Given the description of an element on the screen output the (x, y) to click on. 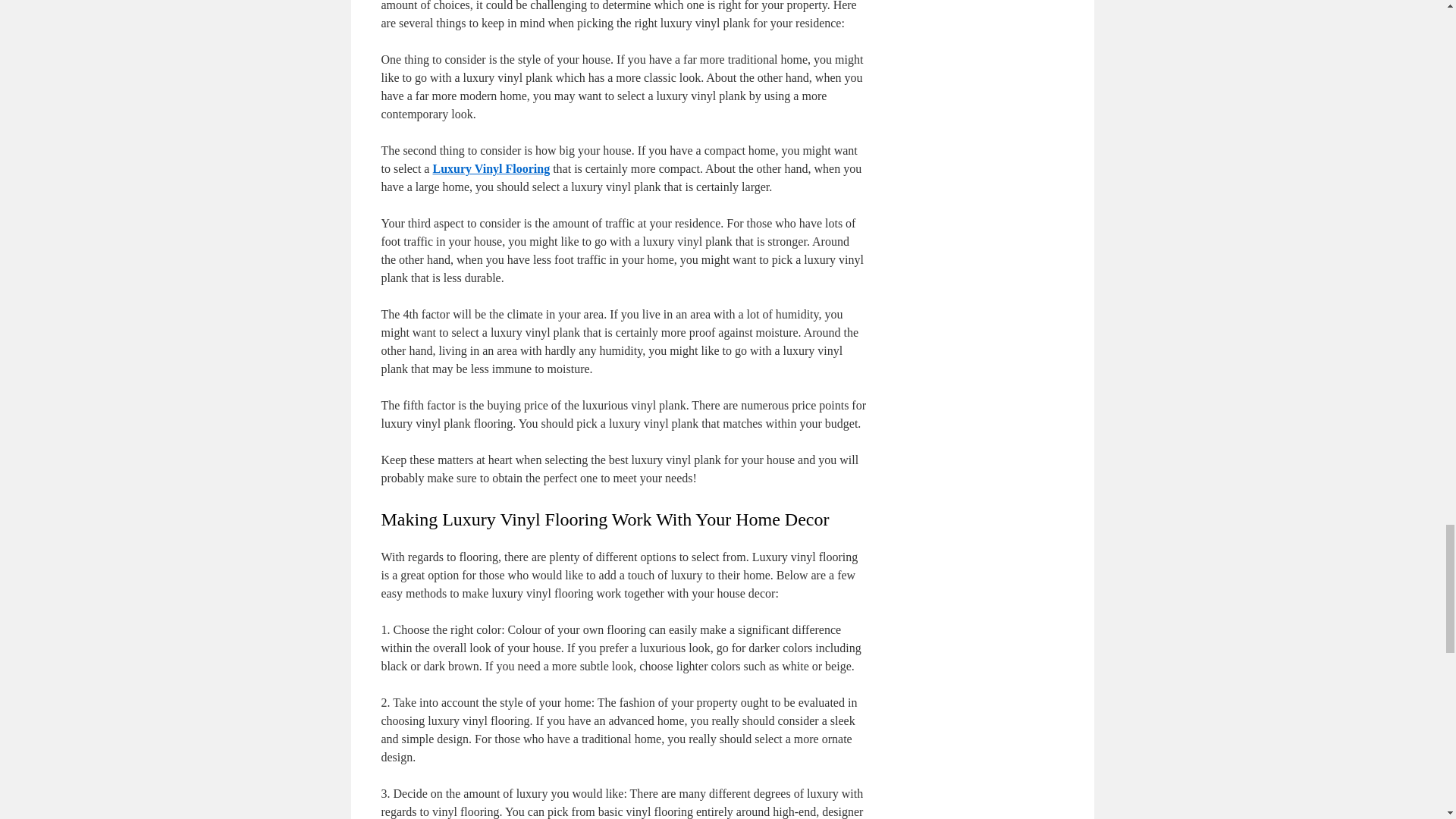
Luxury Vinyl Flooring (491, 168)
